Given the description of an element on the screen output the (x, y) to click on. 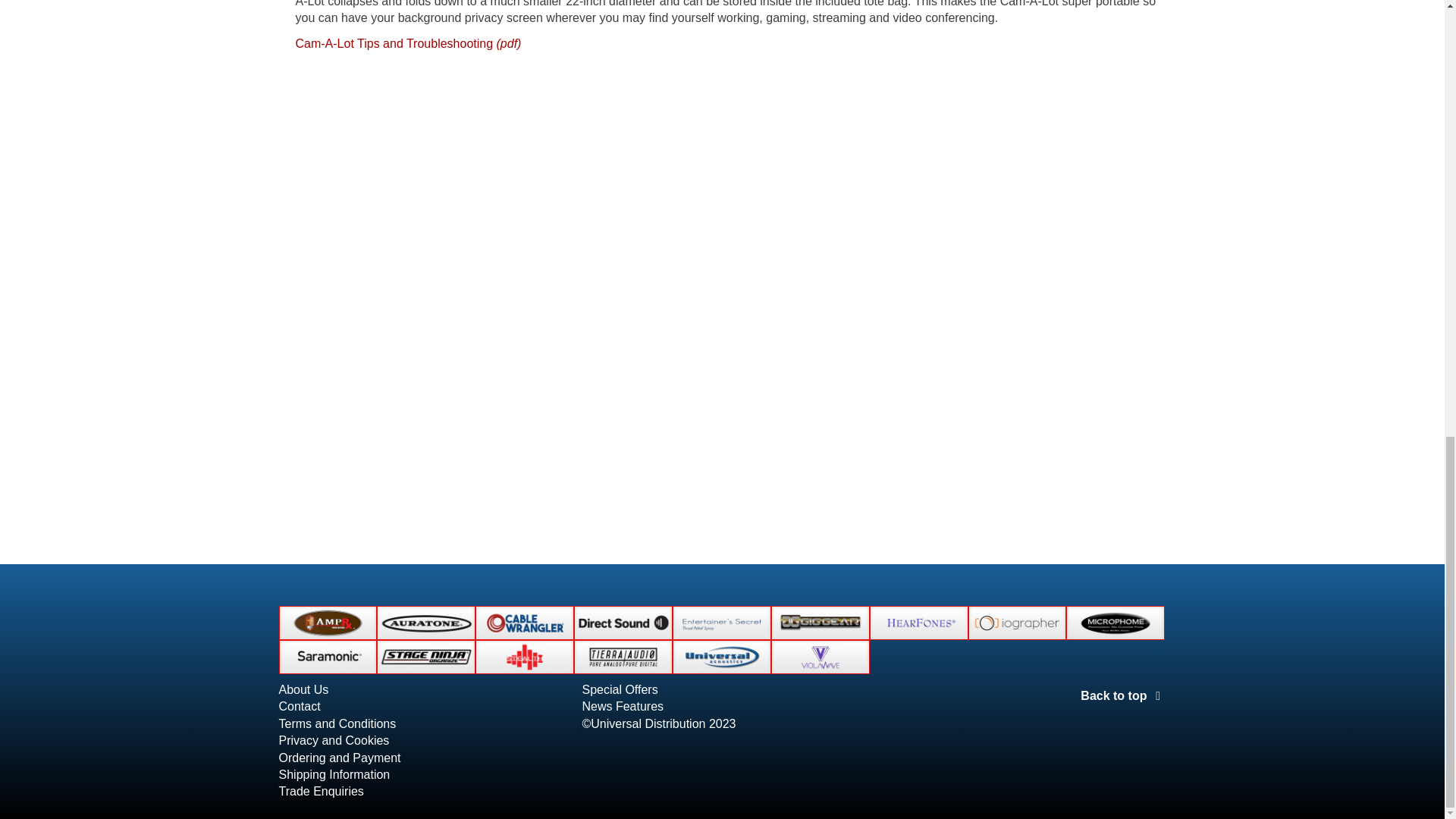
Special Offers (619, 689)
Privacy and Cookies (334, 739)
Privacy (334, 739)
Terms and Conditions (337, 723)
Back to top (1123, 695)
Trade Enquiries (321, 790)
News Features (621, 706)
Trade Enquiries (321, 790)
Contact (299, 706)
Contact Us (299, 706)
Shipping Information (334, 774)
About Us (304, 689)
Special Offers (619, 689)
News Features (621, 706)
Terms and Conditions (337, 723)
